Given the description of an element on the screen output the (x, y) to click on. 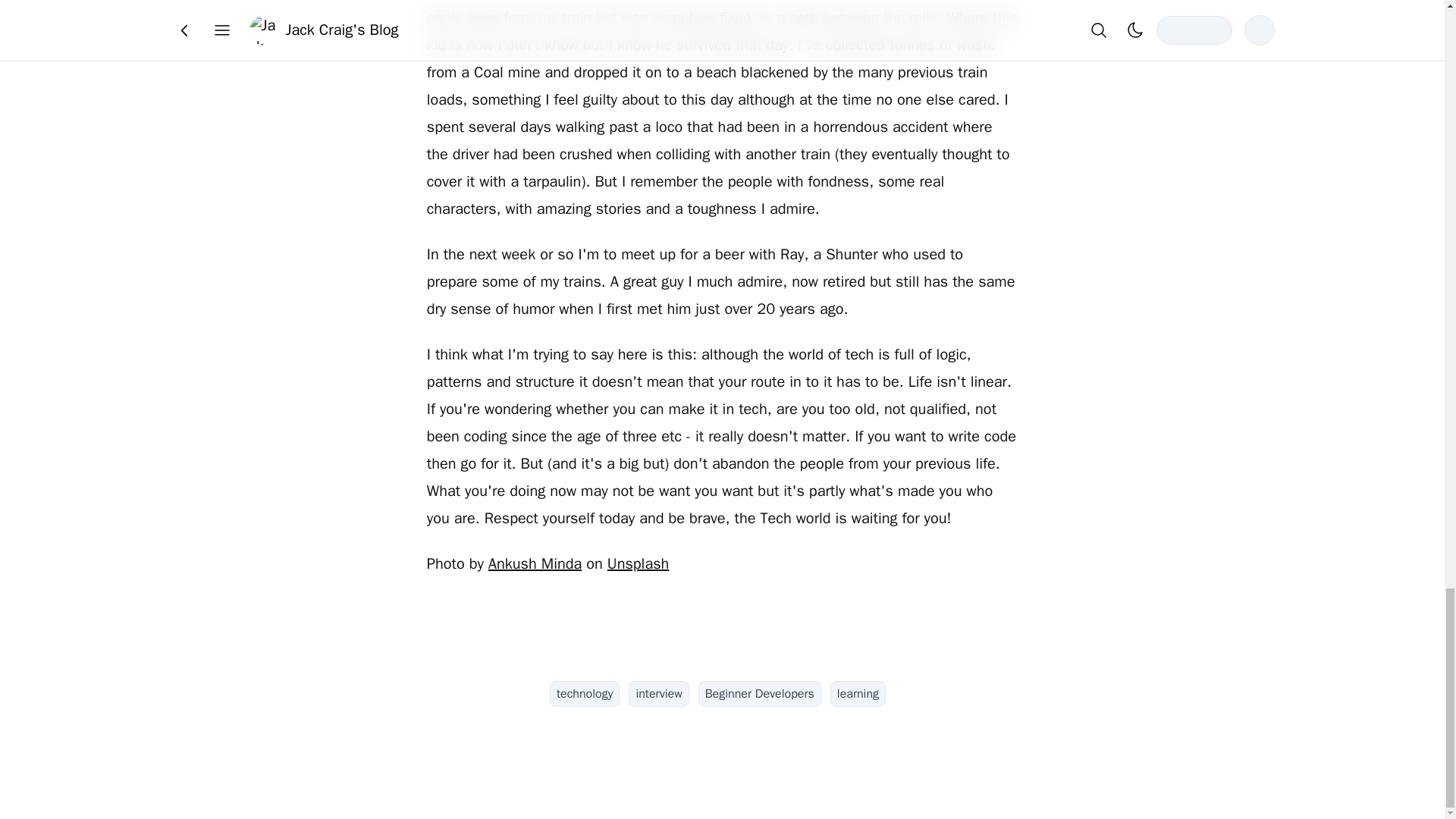
Ankush Minda (533, 563)
Beginner Developers (759, 693)
learning (857, 693)
Unsplash (637, 563)
interview (658, 693)
technology (585, 693)
